Given the description of an element on the screen output the (x, y) to click on. 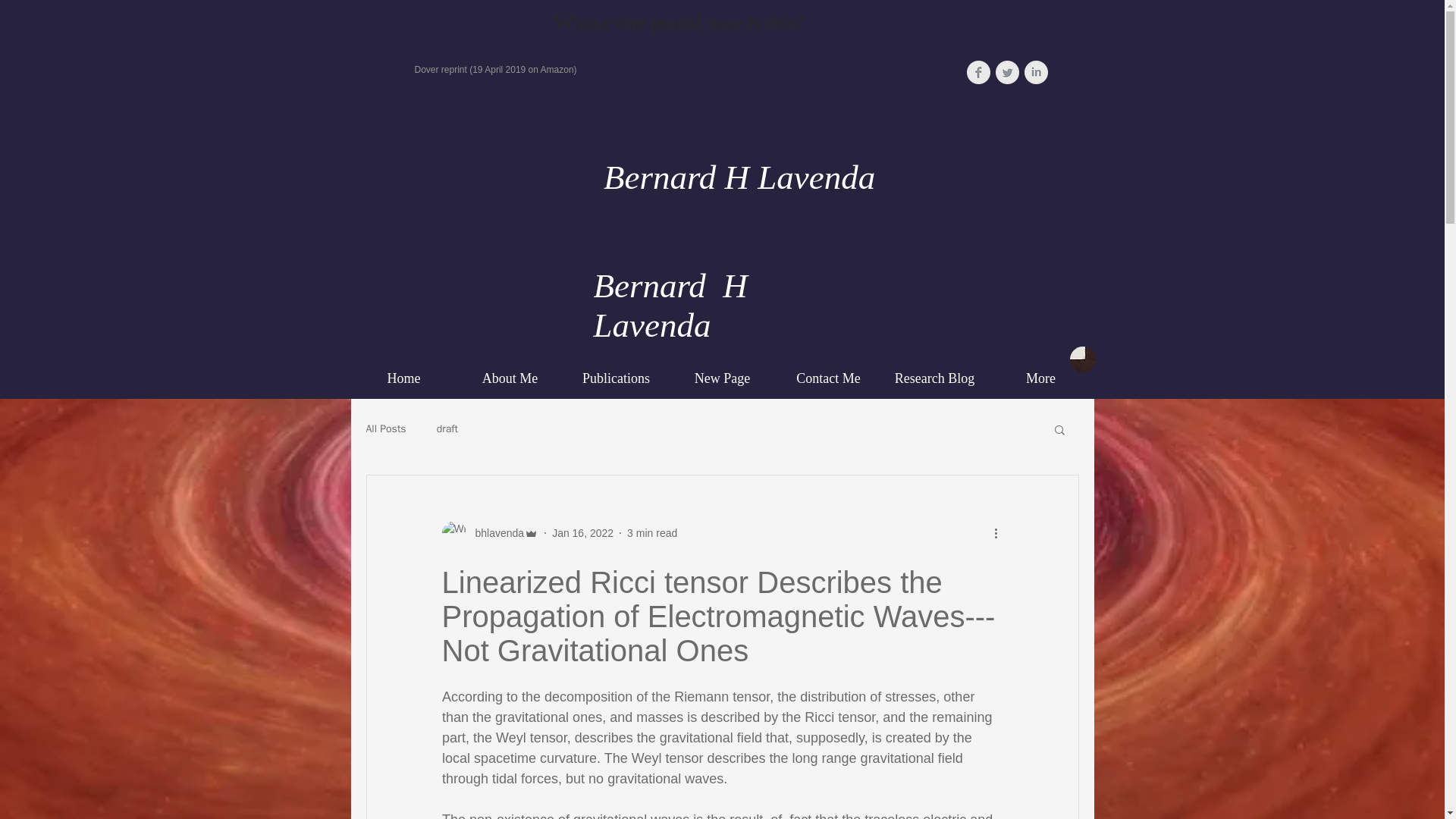
bhlavenda (489, 532)
Research Blog (933, 378)
Publications (615, 378)
 Bernard H Lavenda (735, 177)
Contact Me (827, 378)
Home (403, 378)
Jan 16, 2022 (581, 532)
draft (447, 428)
bhlavenda (494, 532)
About Me (509, 378)
New Page (721, 378)
3 min read (652, 532)
All Posts (385, 428)
